Given the description of an element on the screen output the (x, y) to click on. 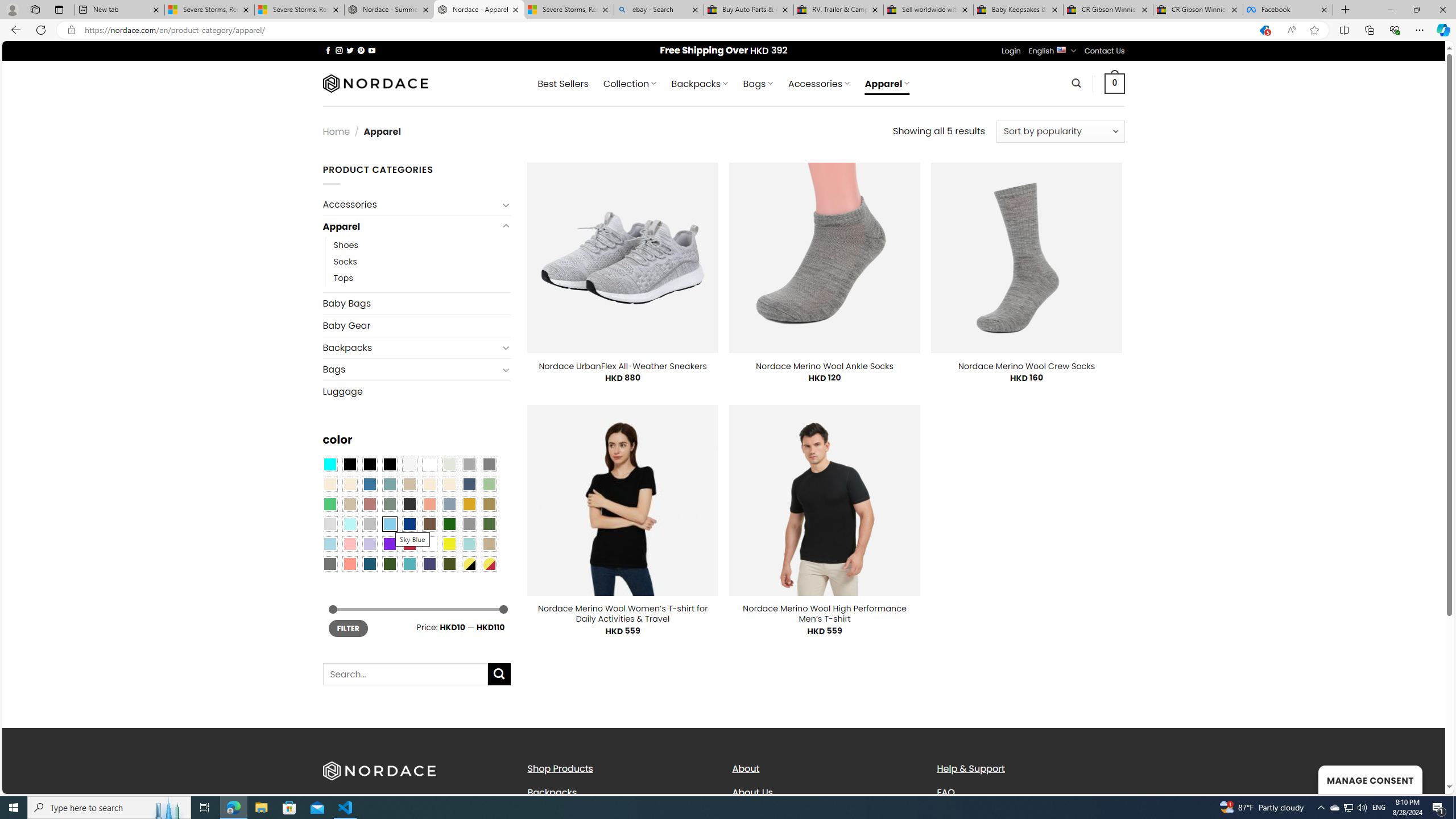
Tops (343, 278)
Light Taupe (349, 503)
Charcoal (408, 503)
Gray (468, 523)
